Given the description of an element on the screen output the (x, y) to click on. 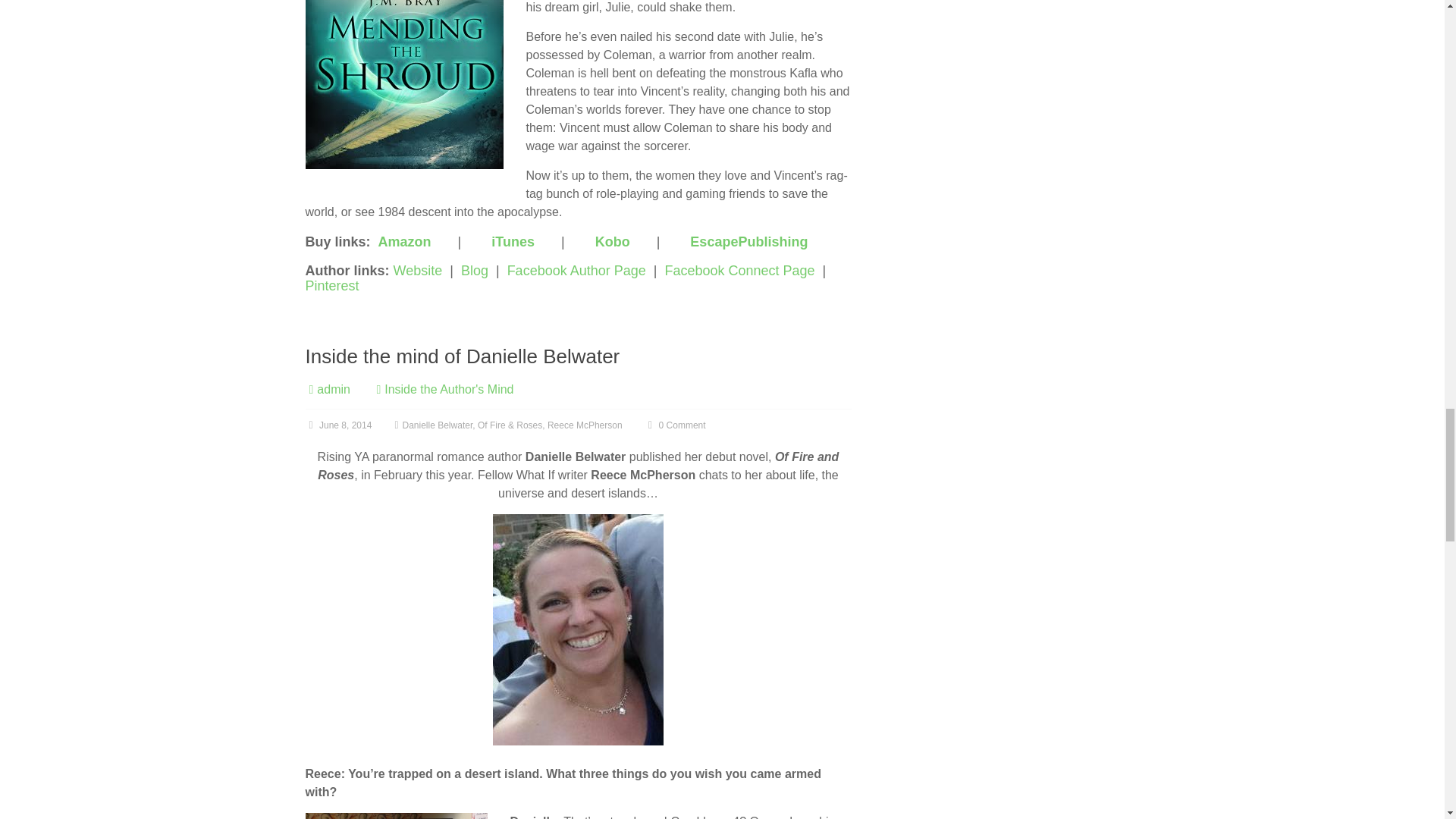
Amazon (404, 241)
Website (417, 270)
Kobo (612, 241)
iTunes (513, 241)
9:57 am (337, 425)
admin (333, 389)
EscapePublishing (749, 241)
Inside the mind of Danielle Belwater (462, 355)
